Given the description of an element on the screen output the (x, y) to click on. 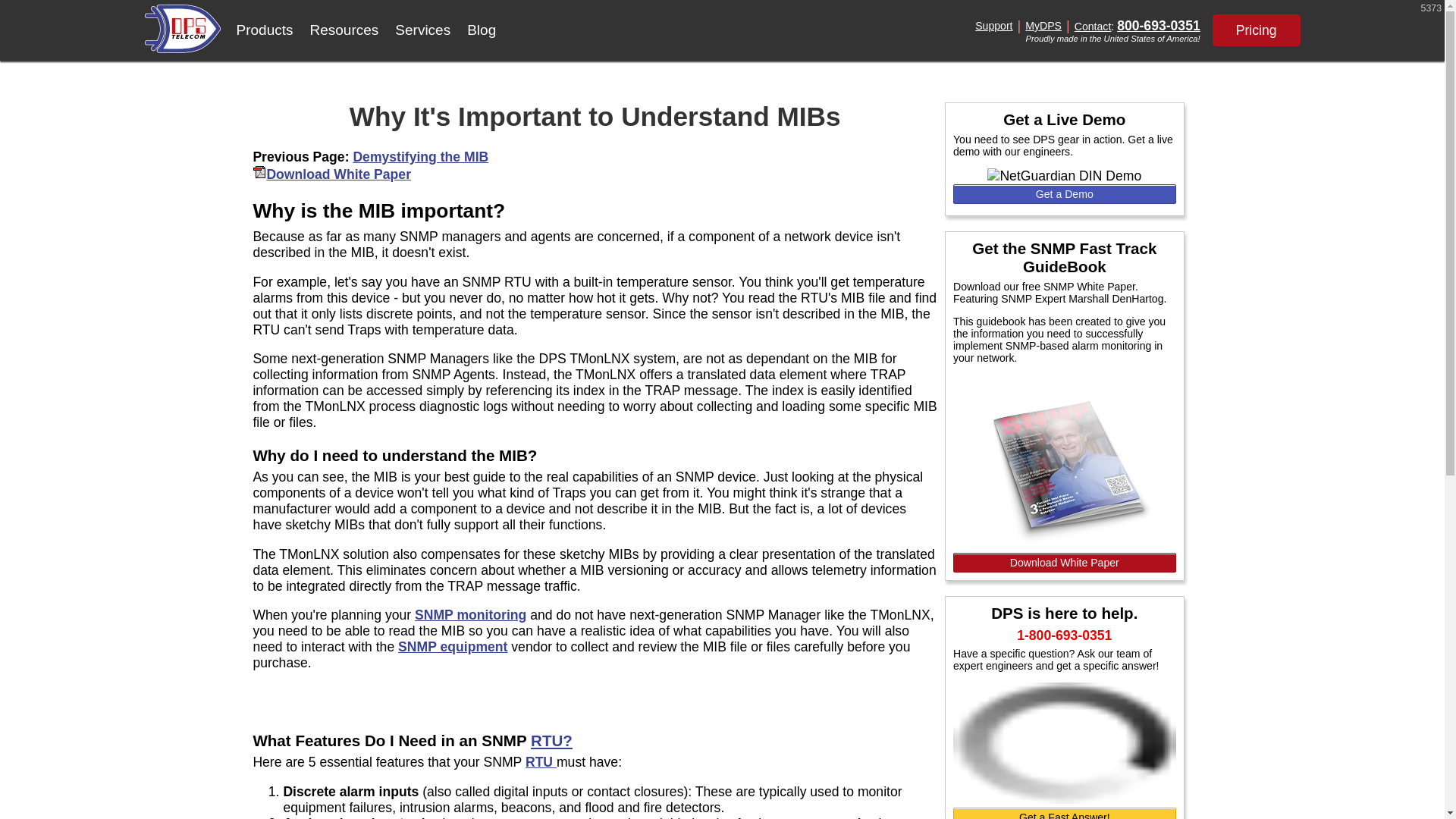
800-693-0351 (1157, 25)
Pricing (1256, 29)
Get a Fast Answer! (1064, 813)
Resources (344, 30)
SNMP monitoring (469, 614)
Download White Paper (1064, 562)
Products (264, 30)
Support (993, 25)
Blog (480, 30)
RTU? (551, 740)
